Given the description of an element on the screen output the (x, y) to click on. 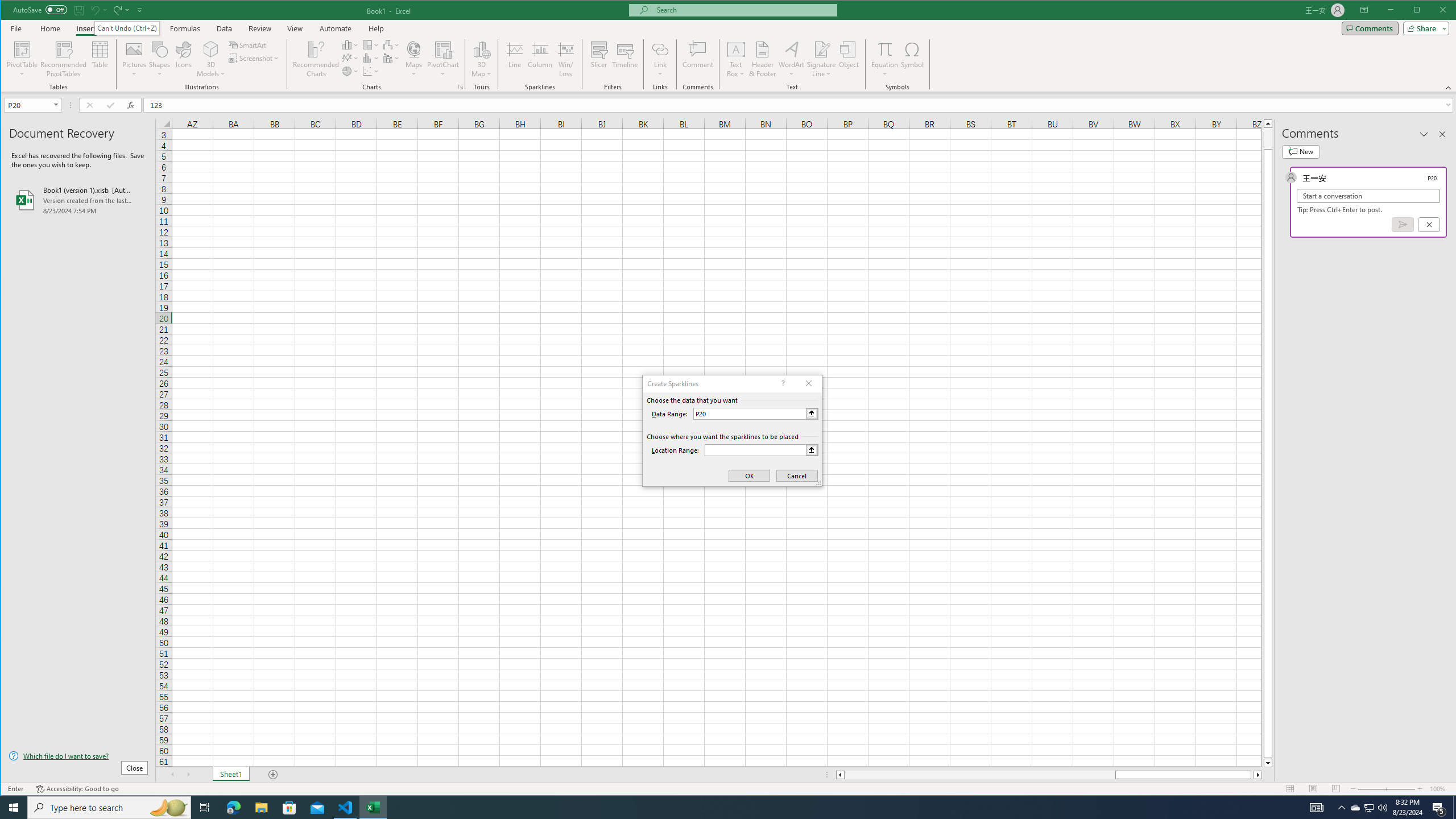
Page up (1267, 138)
3D Map (481, 59)
Insert Column or Bar Chart (350, 44)
Insert Pie or Doughnut Chart (350, 70)
Slicer... (598, 59)
Insert Scatter (X, Y) or Bubble Chart (371, 70)
Link (659, 59)
PivotChart (443, 59)
